Given the description of an element on the screen output the (x, y) to click on. 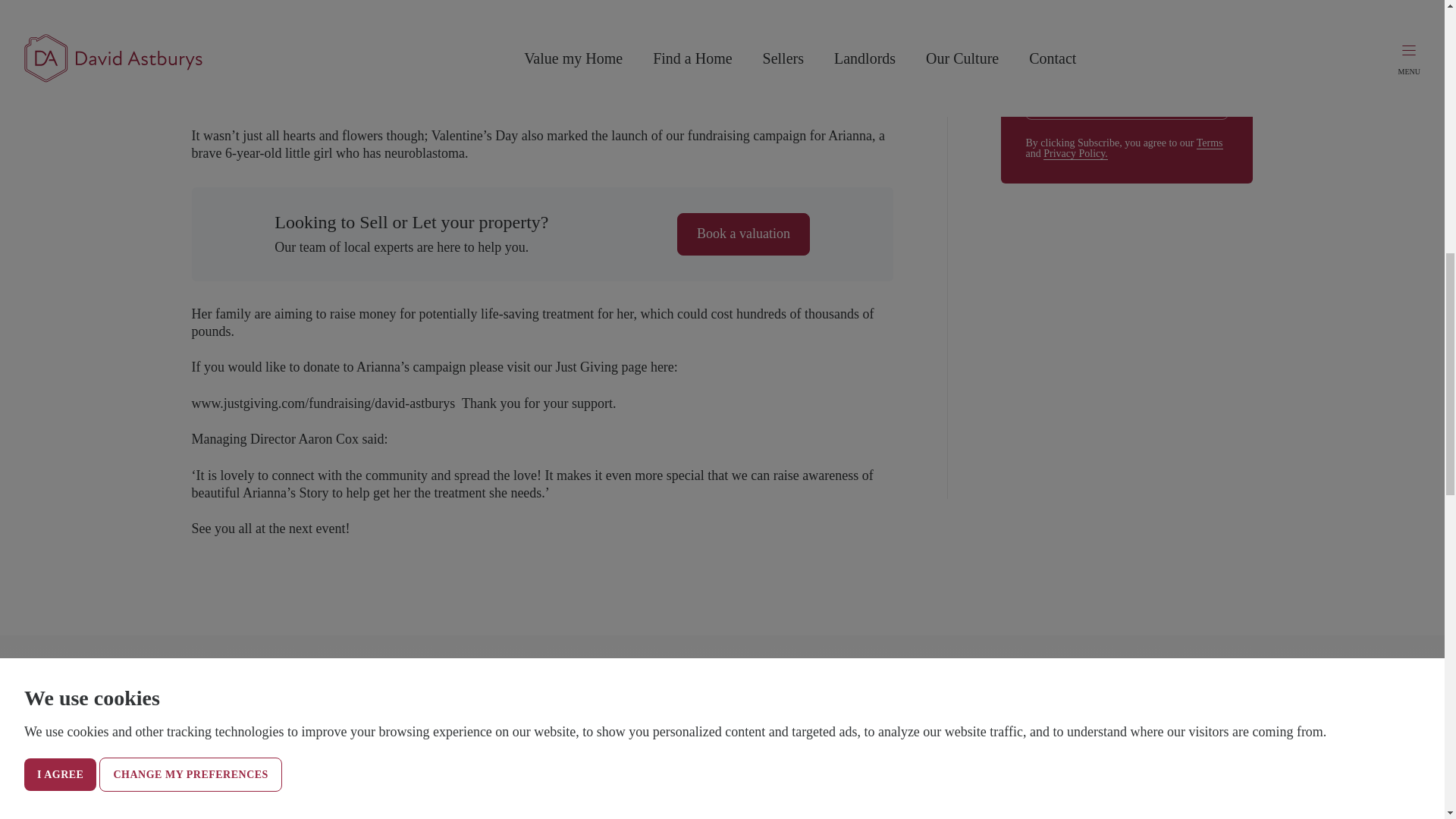
Book a valuation (743, 233)
Subscribe (1126, 97)
Privacy Policy. (1075, 153)
Terms (1209, 143)
